Given the description of an element on the screen output the (x, y) to click on. 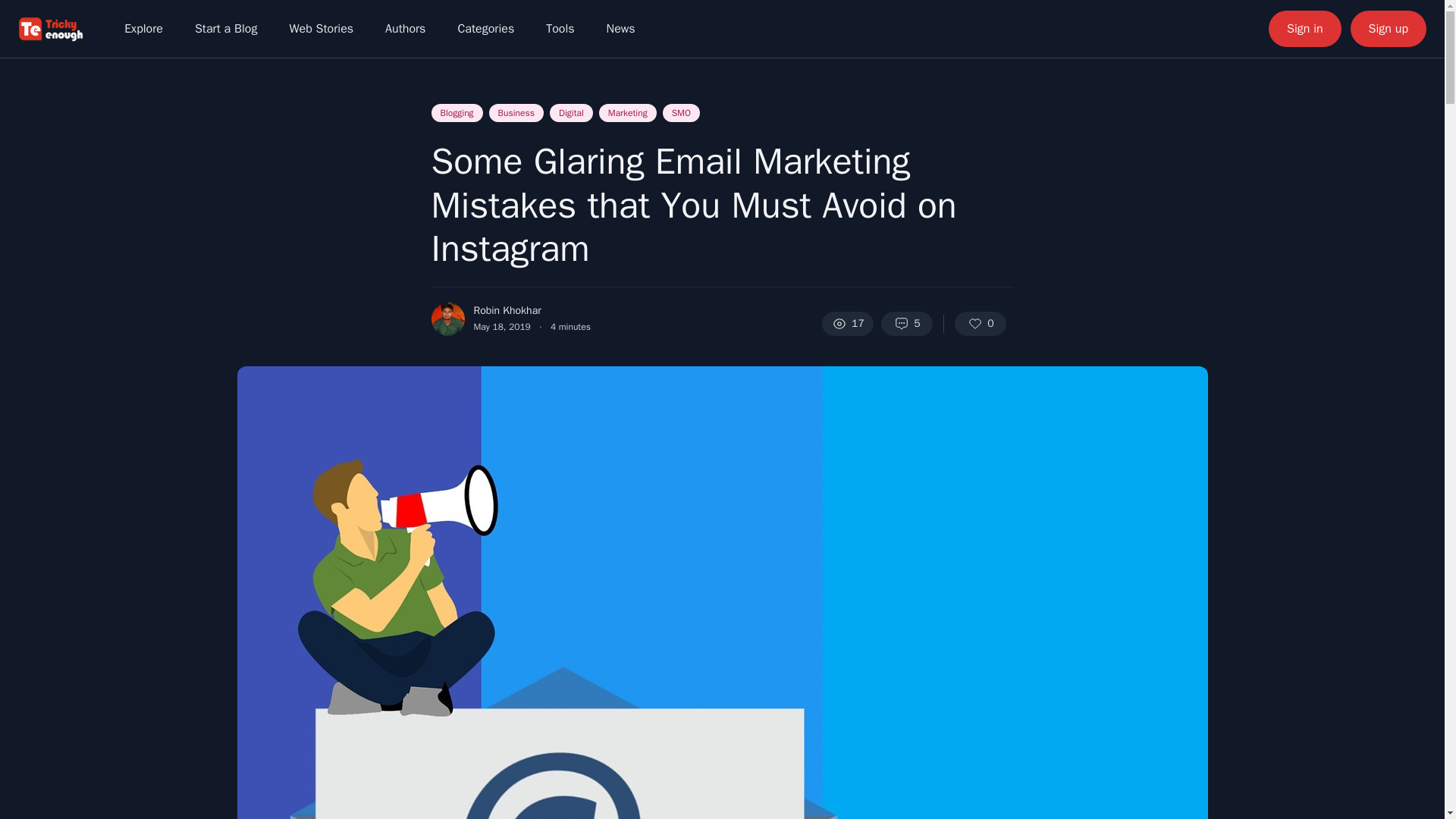
Authors (405, 28)
Business (516, 113)
Robin Khokhar (506, 310)
Sign up (1388, 28)
Explore (143, 28)
Web Stories (320, 28)
Categories (485, 28)
Digital (571, 113)
News (620, 28)
Marketing (627, 113)
